Given the description of an element on the screen output the (x, y) to click on. 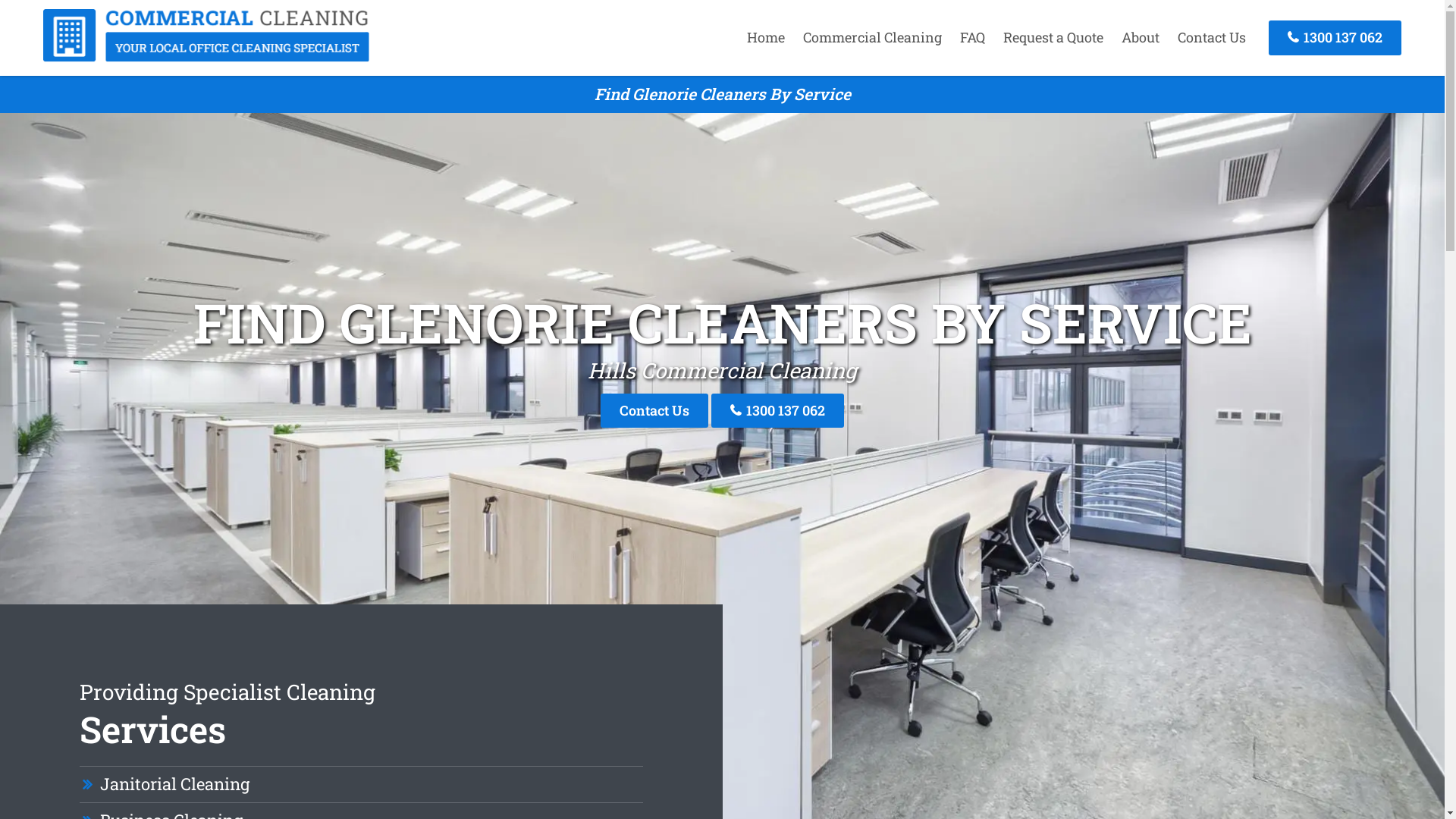
Contact Us Element type: text (654, 410)
Janitorial Cleaning Element type: text (174, 784)
1300 137 062 Element type: text (1334, 37)
Contact Us Element type: text (1211, 37)
Home Element type: text (765, 37)
About Element type: text (1140, 37)
Commercial Cleaning Element type: text (872, 37)
1300 137 062 Element type: text (777, 410)
Request a Quote Element type: text (1052, 37)
Commercial Cleaning Element type: hover (206, 56)
FAQ Element type: text (972, 37)
